Given the description of an element on the screen output the (x, y) to click on. 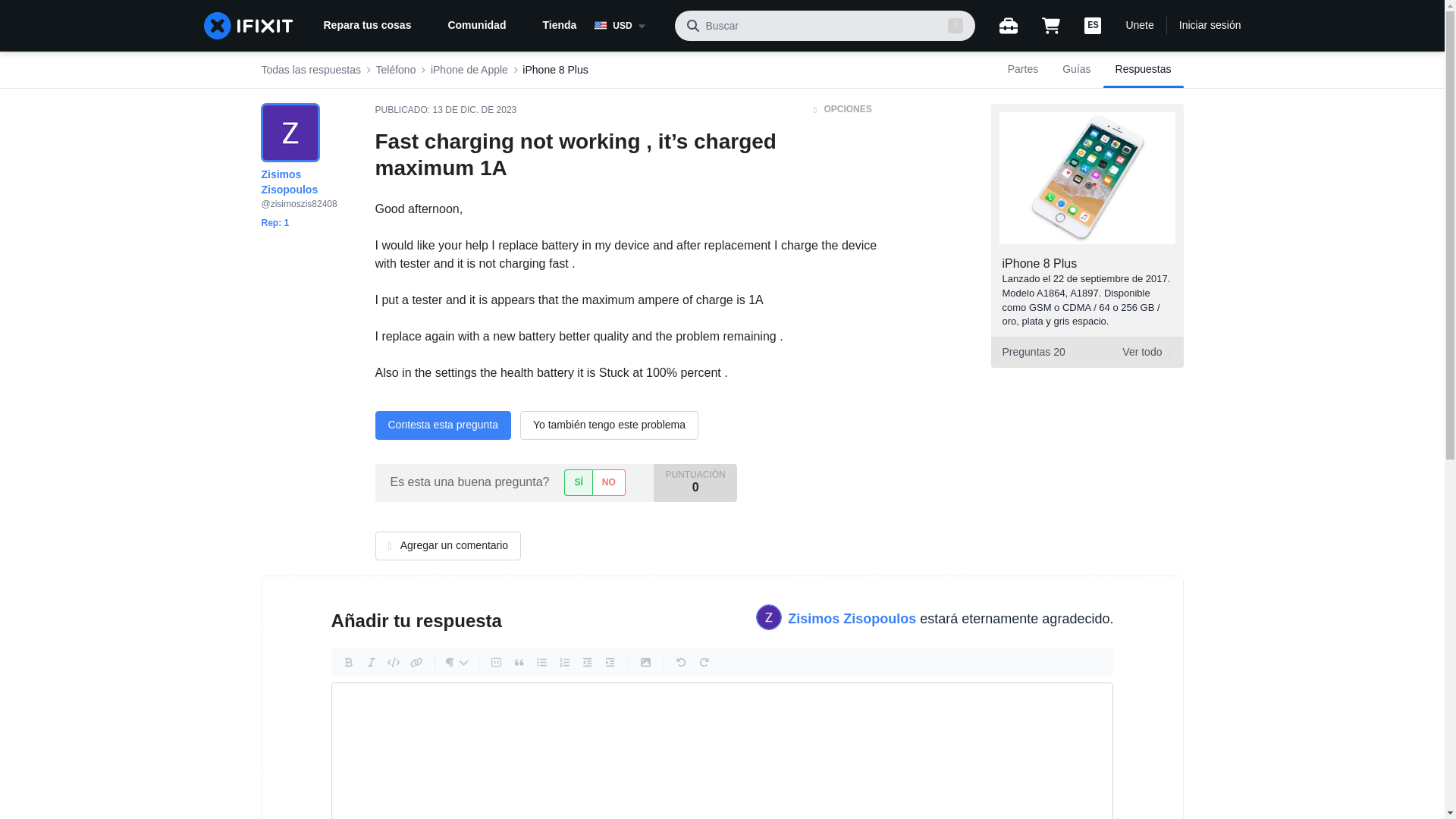
iPhone 8 Plus (555, 69)
Contesta esta pregunta (442, 425)
USD (628, 25)
PUBLICADO: 13 DE DIC. DE 2023 (445, 109)
Unete (1139, 25)
Todas las respuestas (1086, 351)
iPhone de Apple (310, 69)
Partes (469, 69)
iPhone 8 Plus (1022, 69)
